Given the description of an element on the screen output the (x, y) to click on. 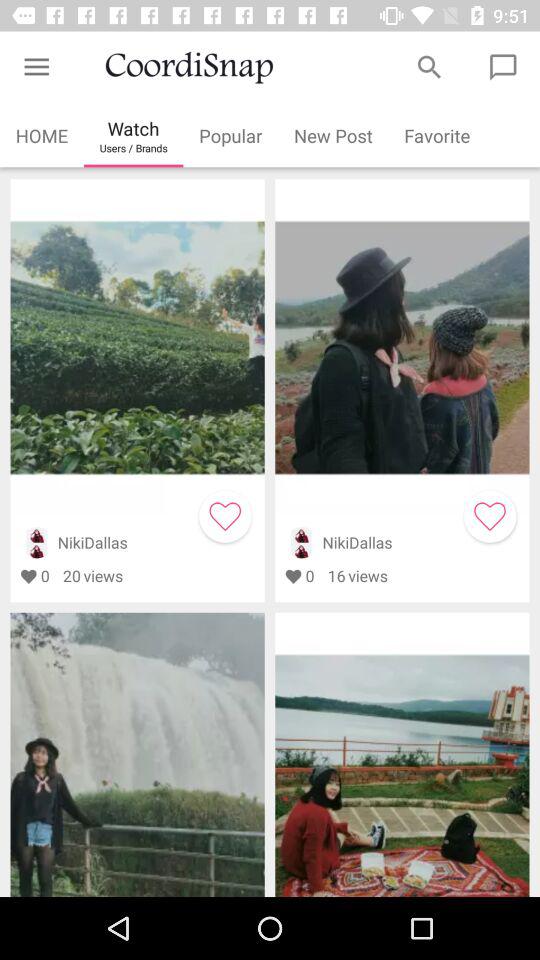
click the like option (489, 516)
